Given the description of an element on the screen output the (x, y) to click on. 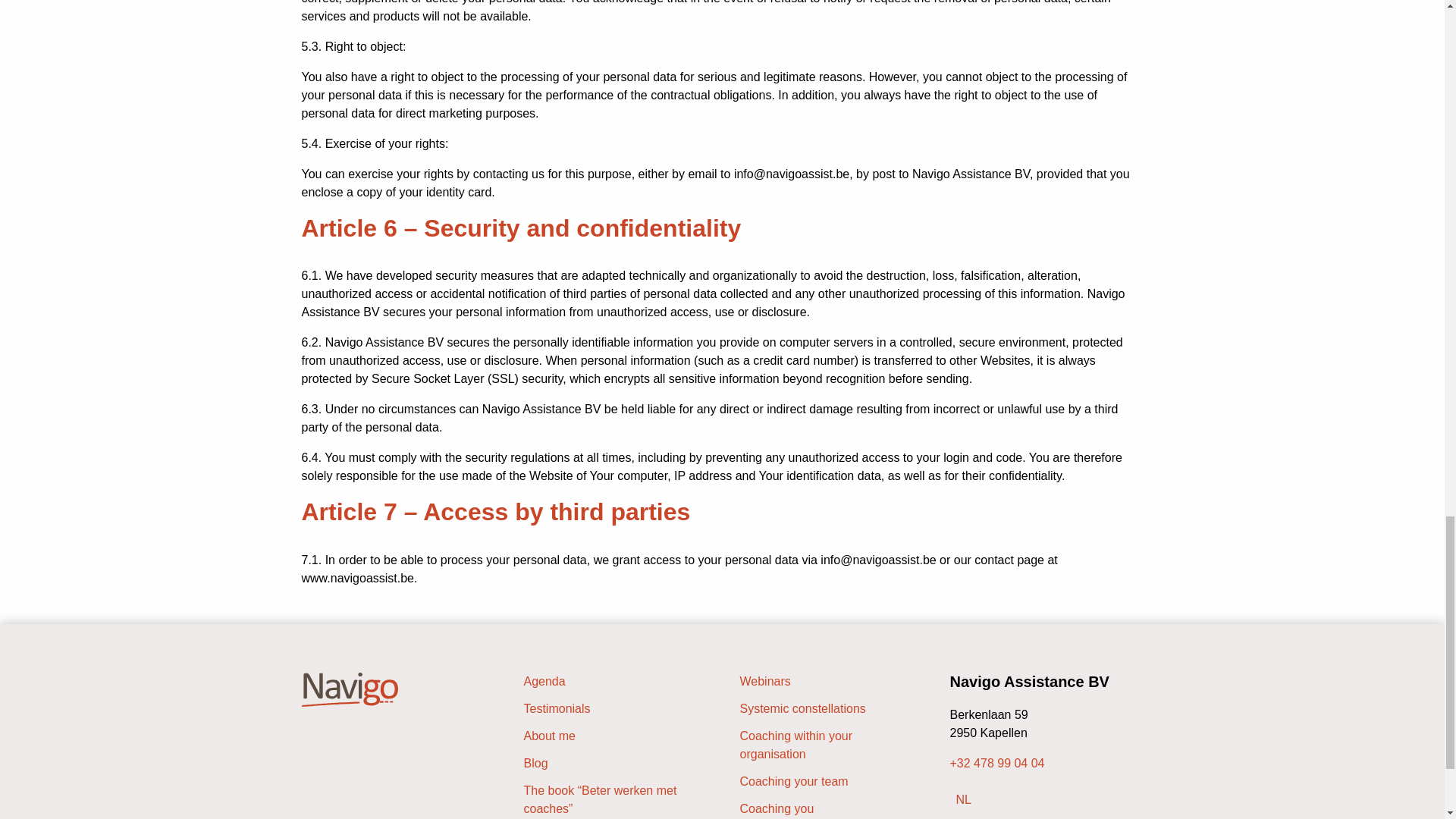
NL (962, 799)
Coaching within your organisation (830, 745)
Testimonials (613, 709)
Agenda (613, 681)
About me (613, 736)
Coaching you (830, 809)
Systemic constellations (830, 709)
Blog (613, 763)
Coaching your team (830, 782)
Webinars (830, 681)
